Given the description of an element on the screen output the (x, y) to click on. 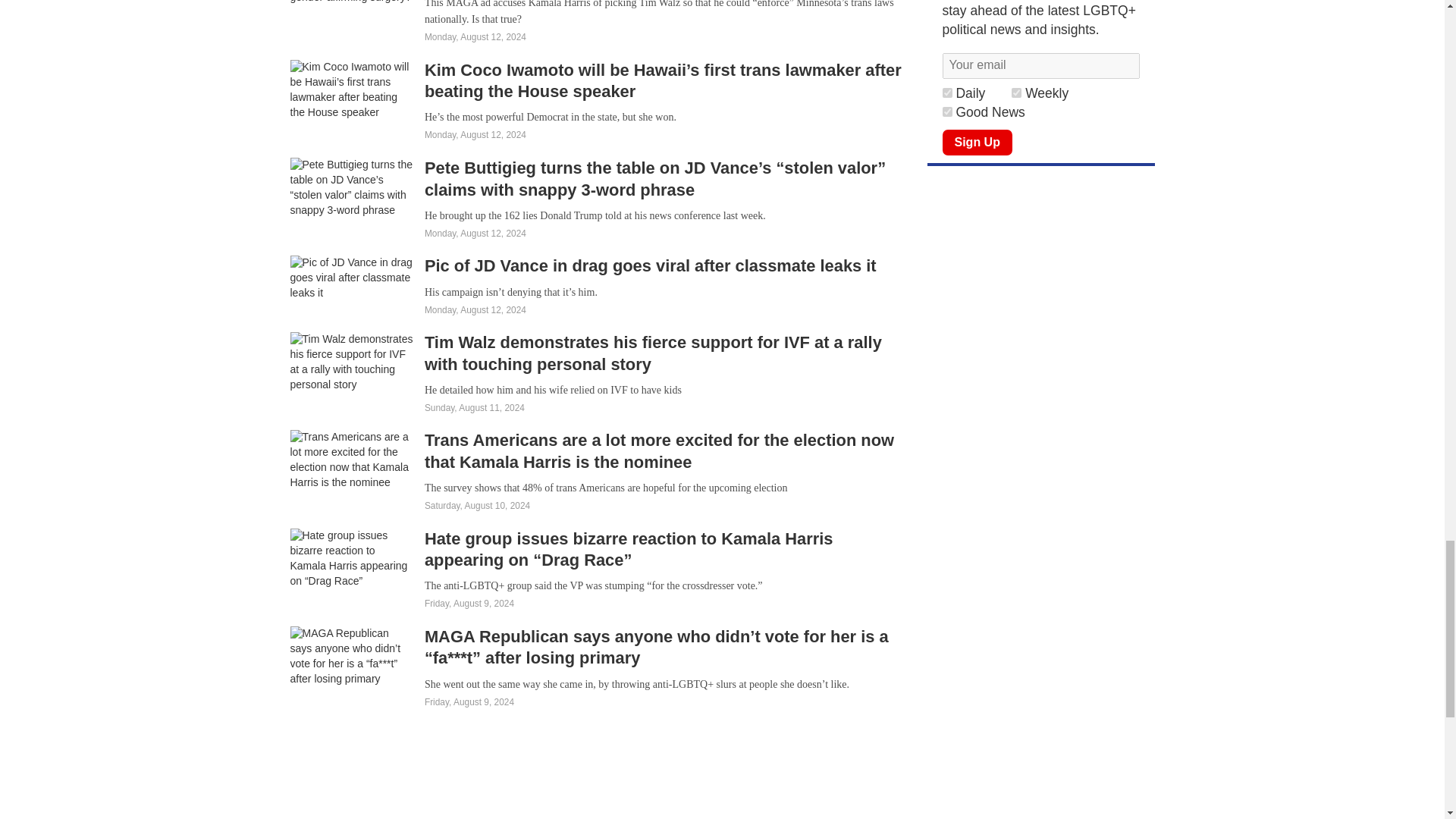
1920883 (947, 112)
1920884 (1016, 92)
1920885 (947, 92)
Sign Up (976, 142)
